Given the description of an element on the screen output the (x, y) to click on. 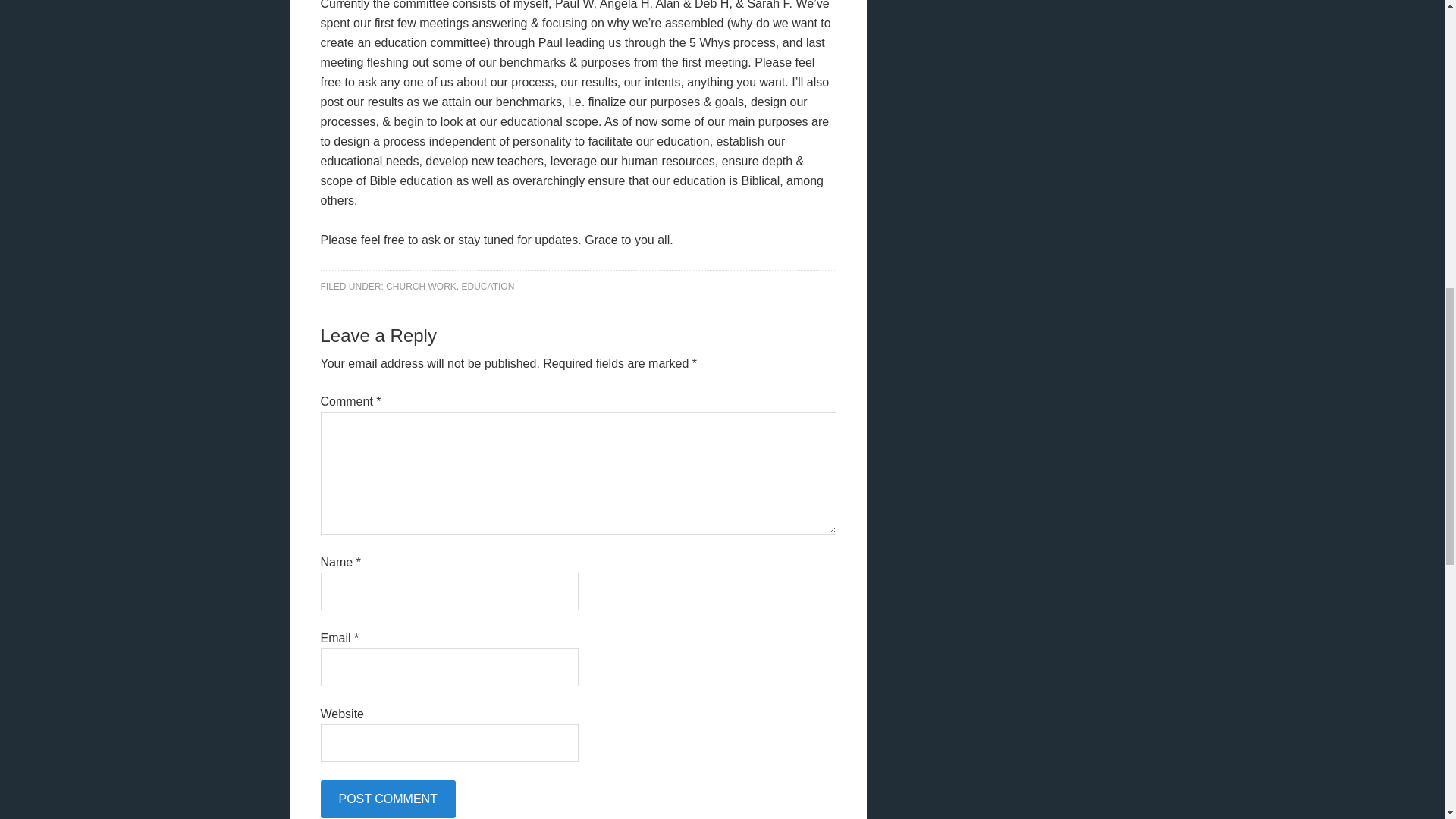
EDUCATION (488, 286)
Post Comment (387, 799)
CHURCH WORK (421, 286)
Post Comment (387, 799)
